Given the description of an element on the screen output the (x, y) to click on. 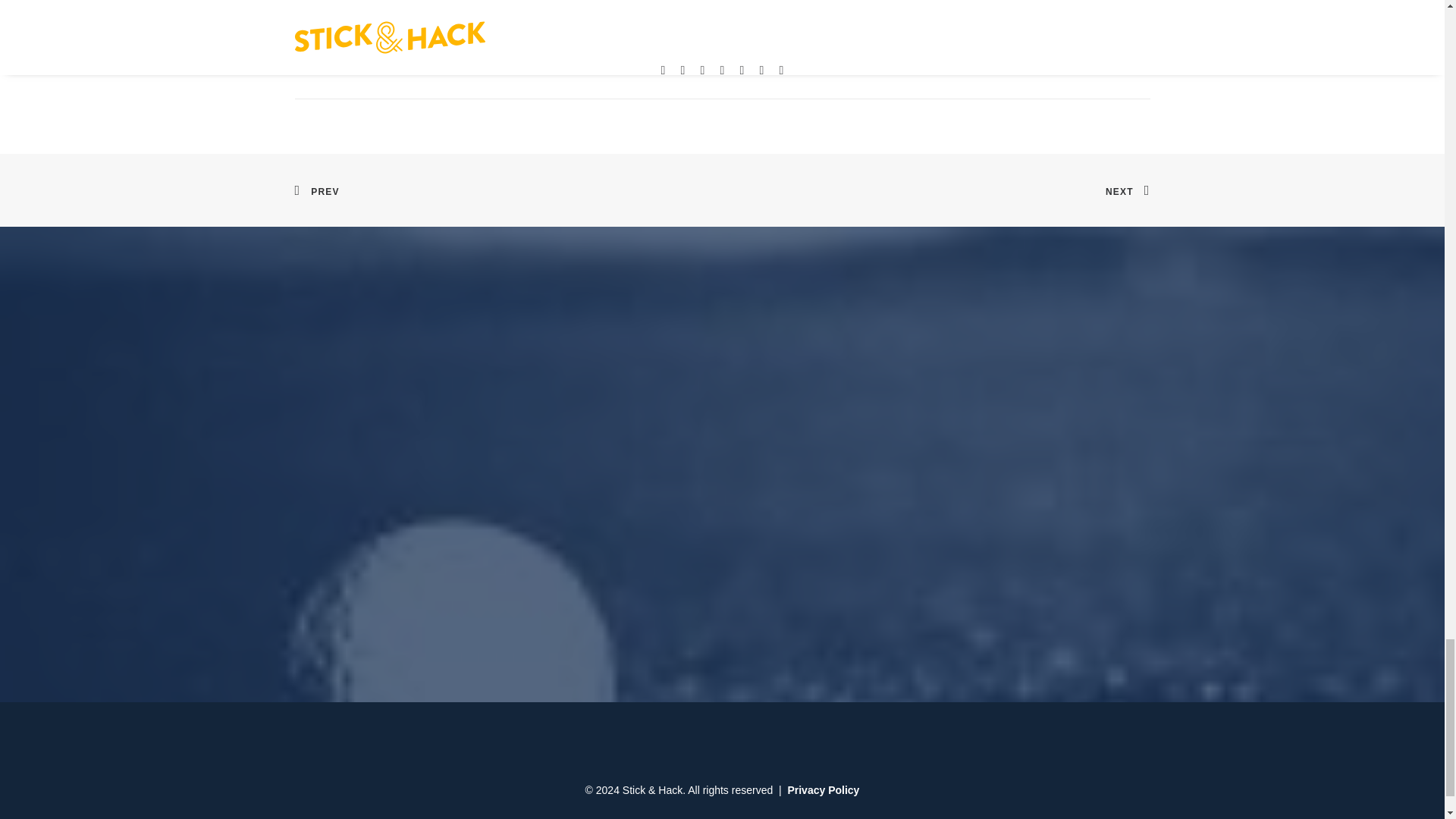
PREV (316, 190)
NEXT (1127, 190)
